Given the description of an element on the screen output the (x, y) to click on. 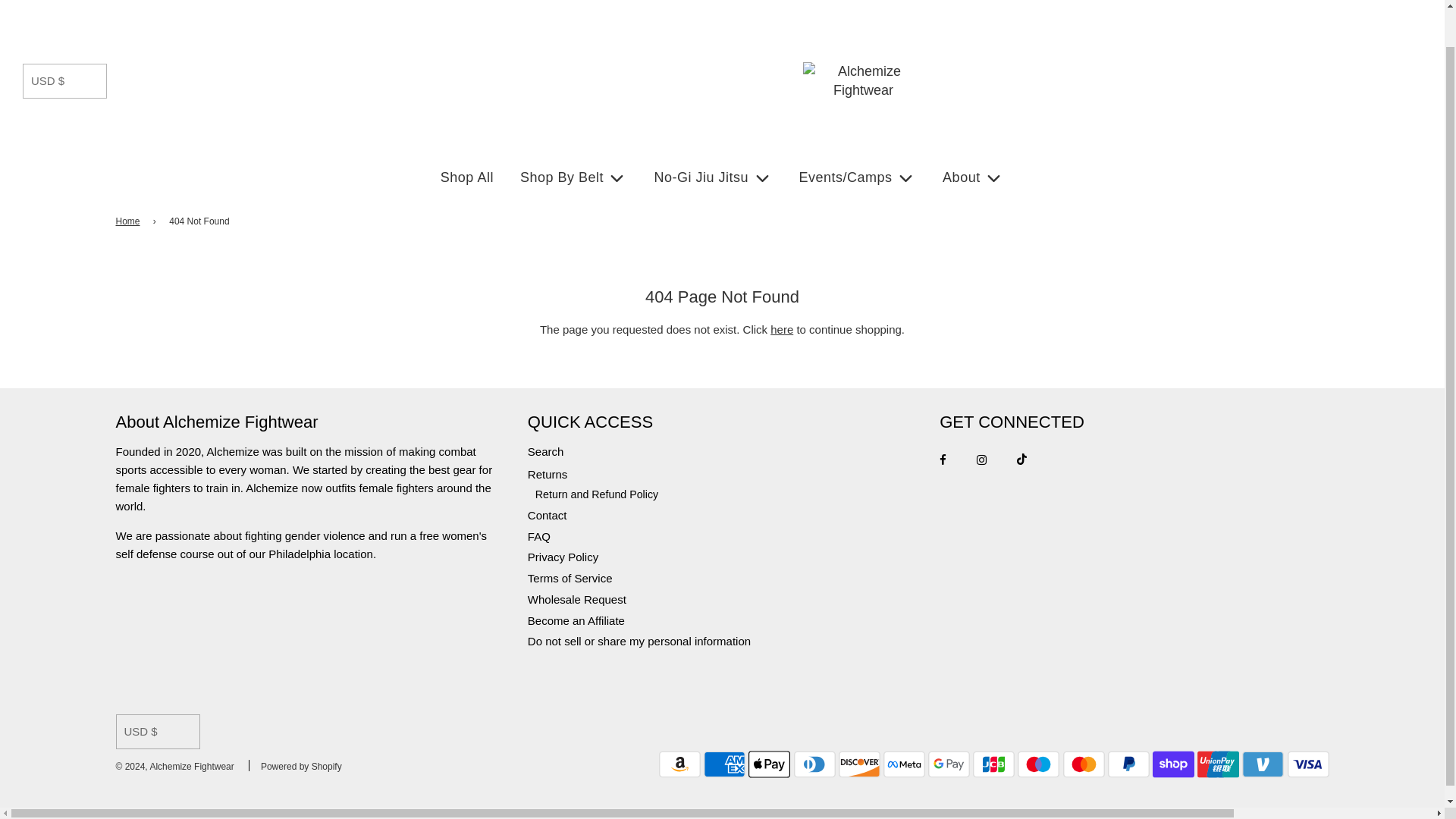
American Express (724, 764)
Google Pay (948, 764)
Discover (859, 764)
PayPal (1129, 764)
Meta Pay (903, 764)
Shop Pay (1173, 764)
Amazon (679, 764)
Maestro (1038, 764)
Back to the frontpage (129, 221)
Apple Pay (769, 764)
